Given the description of an element on the screen output the (x, y) to click on. 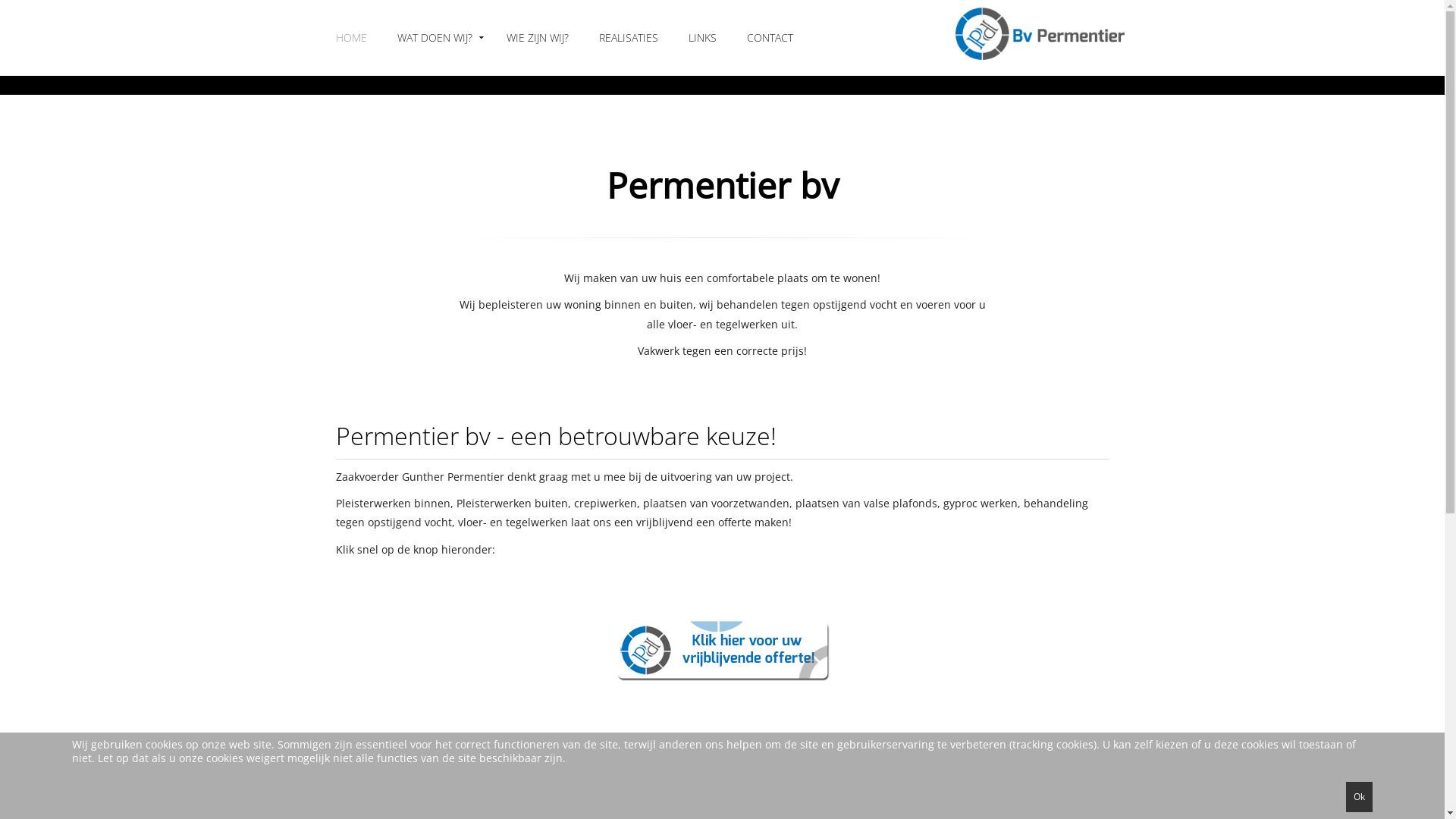
Ok Element type: text (1359, 796)
CONTACT Element type: text (769, 37)
Vrijblijvende offerte Element type: hover (721, 651)
HOME Element type: text (350, 37)
REALISATIES Element type: text (628, 37)
LINKS Element type: text (702, 37)
WIE ZIJN WIJ? Element type: text (537, 37)
WAT DOEN WIJ? Element type: text (436, 37)
